Given the description of an element on the screen output the (x, y) to click on. 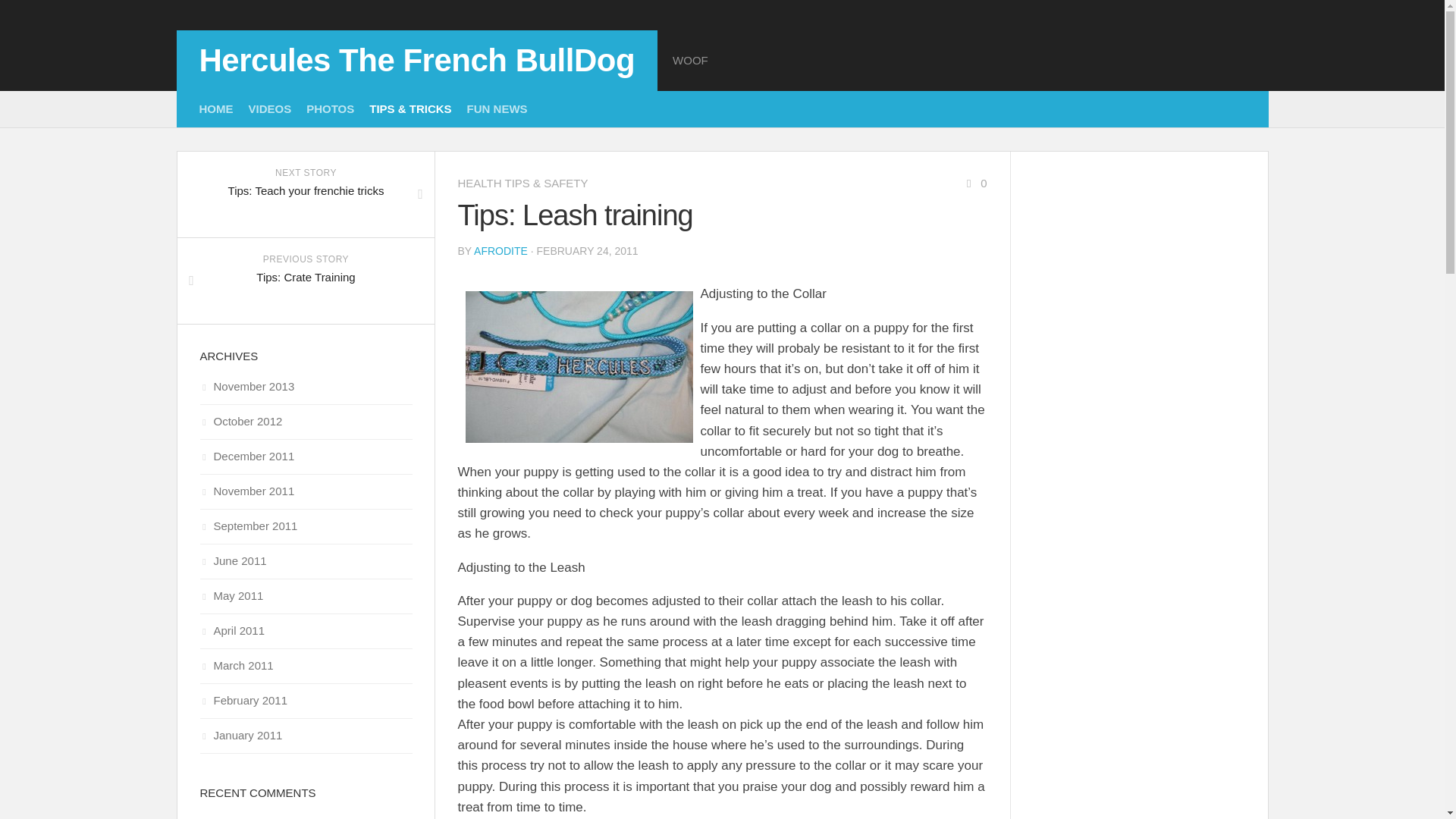
April 2011 (232, 630)
0 (974, 182)
November 2013 (247, 386)
May 2011 (231, 594)
Posts by afrodite (500, 250)
October 2012 (241, 420)
December 2011 (247, 455)
AFRODITE (500, 250)
November 2011 (247, 490)
FUN NEWS (497, 109)
